Given the description of an element on the screen output the (x, y) to click on. 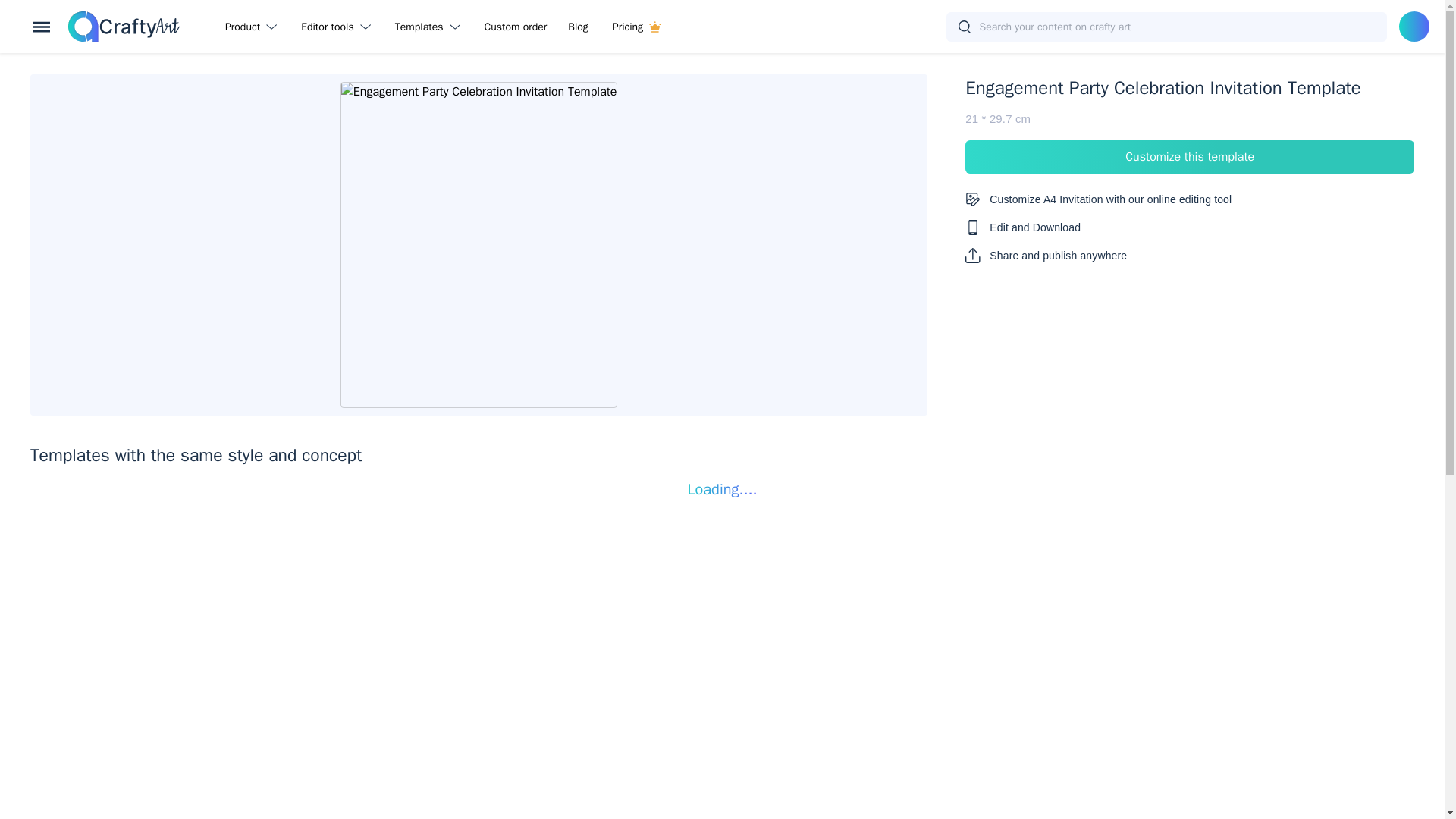
Pricing (635, 26)
Product (253, 26)
Blog (577, 26)
Editor tools (338, 26)
Custom order (516, 26)
Templates (430, 26)
